Given the description of an element on the screen output the (x, y) to click on. 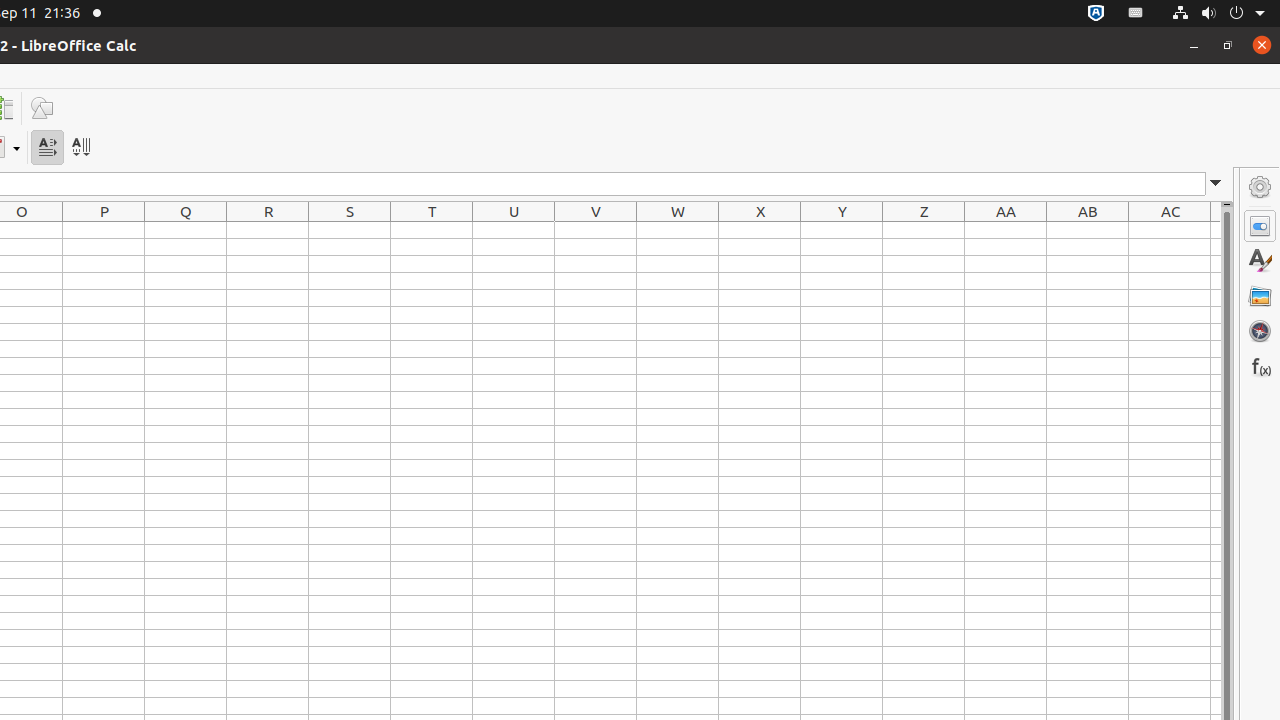
Z1 Element type: table-cell (924, 230)
Y1 Element type: table-cell (842, 230)
Draw Functions Element type: toggle-button (41, 108)
T1 Element type: table-cell (432, 230)
